Given the description of an element on the screen output the (x, y) to click on. 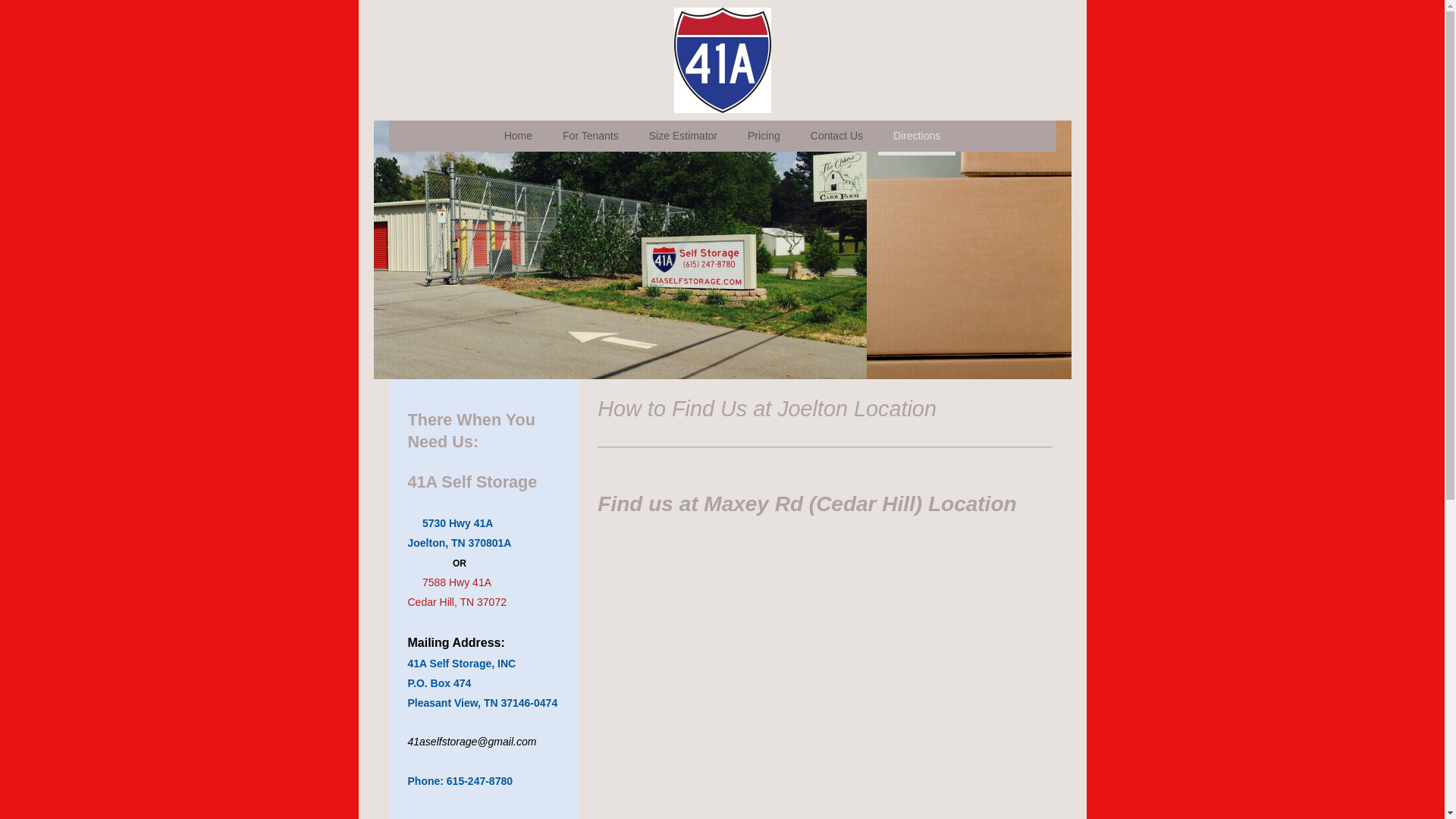
Home Element type: text (518, 137)
For Tenants Element type: text (590, 137)
Directions Element type: text (916, 137)
Size Estimator Element type: text (682, 137)
Contact Us Element type: text (836, 137)
Pricing Element type: text (763, 137)
